Given the description of an element on the screen output the (x, y) to click on. 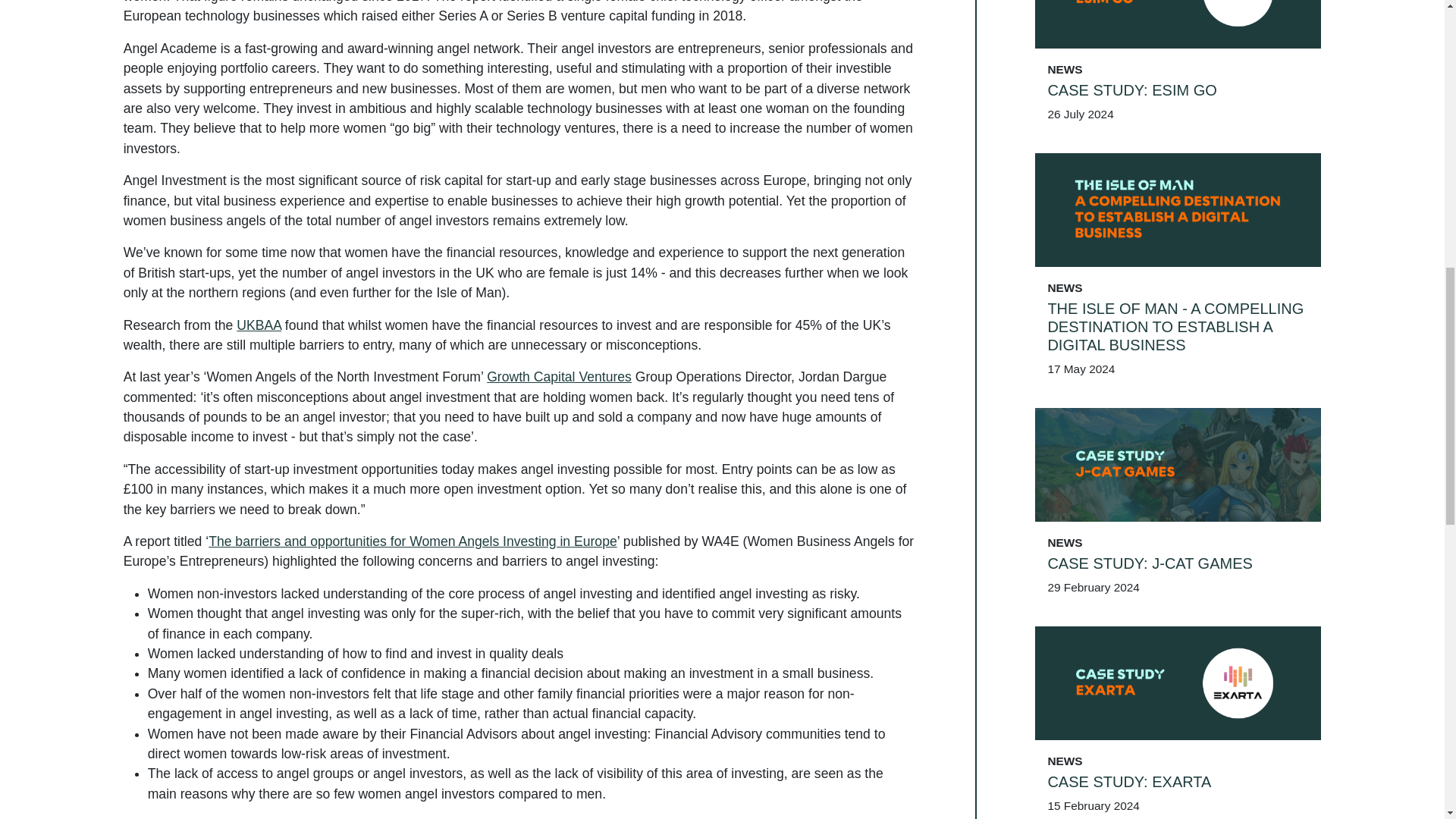
SQR SECURE ISLE OF MAN GOVERNMENT CONTRACT (1177, 598)
UKBAA (258, 324)
CASE STUDY: J-CAT GAMES (1177, 152)
CASE STUDY: EXARTA (1177, 370)
Growth Capital Ventures (558, 376)
